Given the description of an element on the screen output the (x, y) to click on. 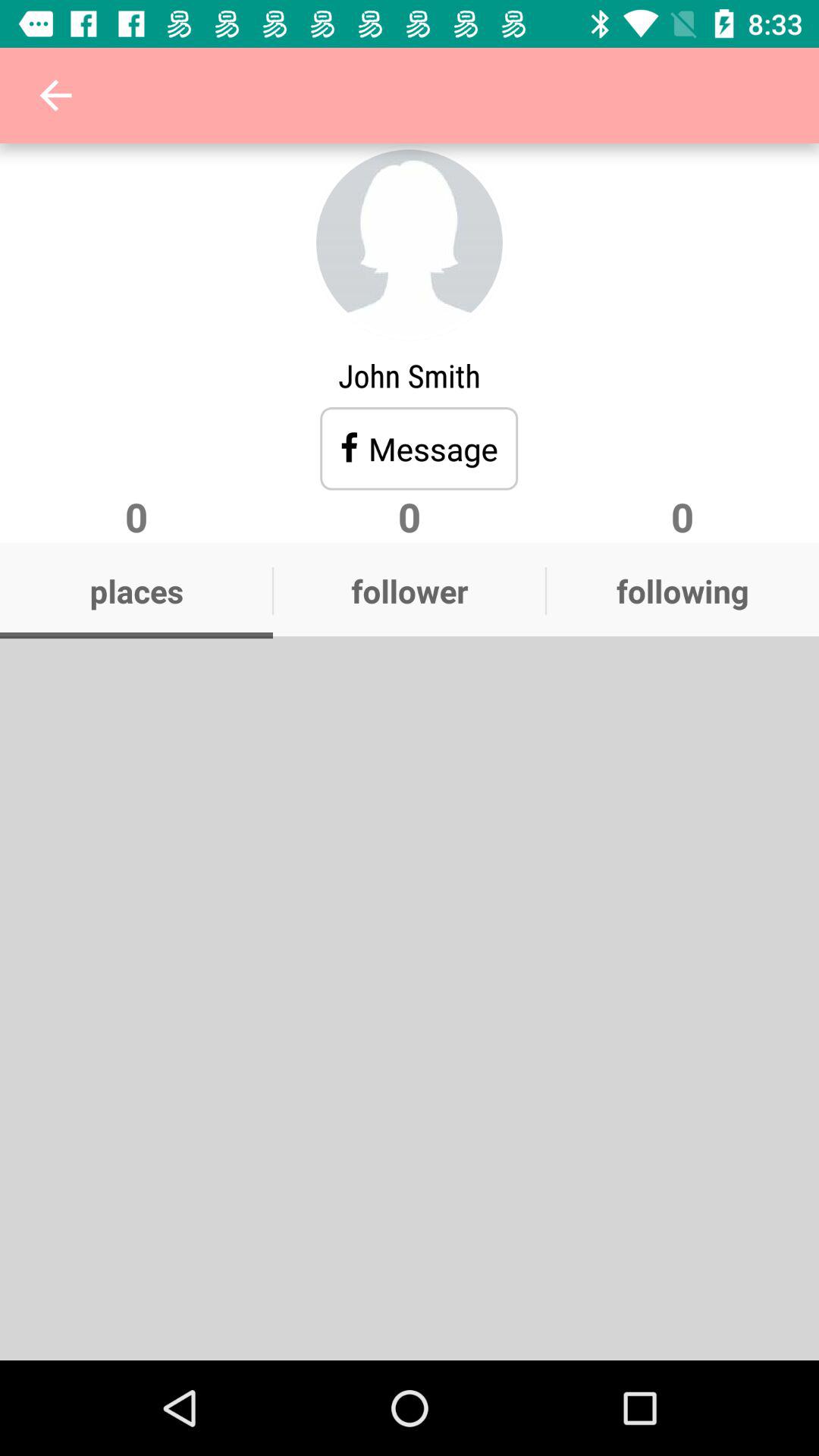
scroll until follower app (409, 590)
